Given the description of an element on the screen output the (x, y) to click on. 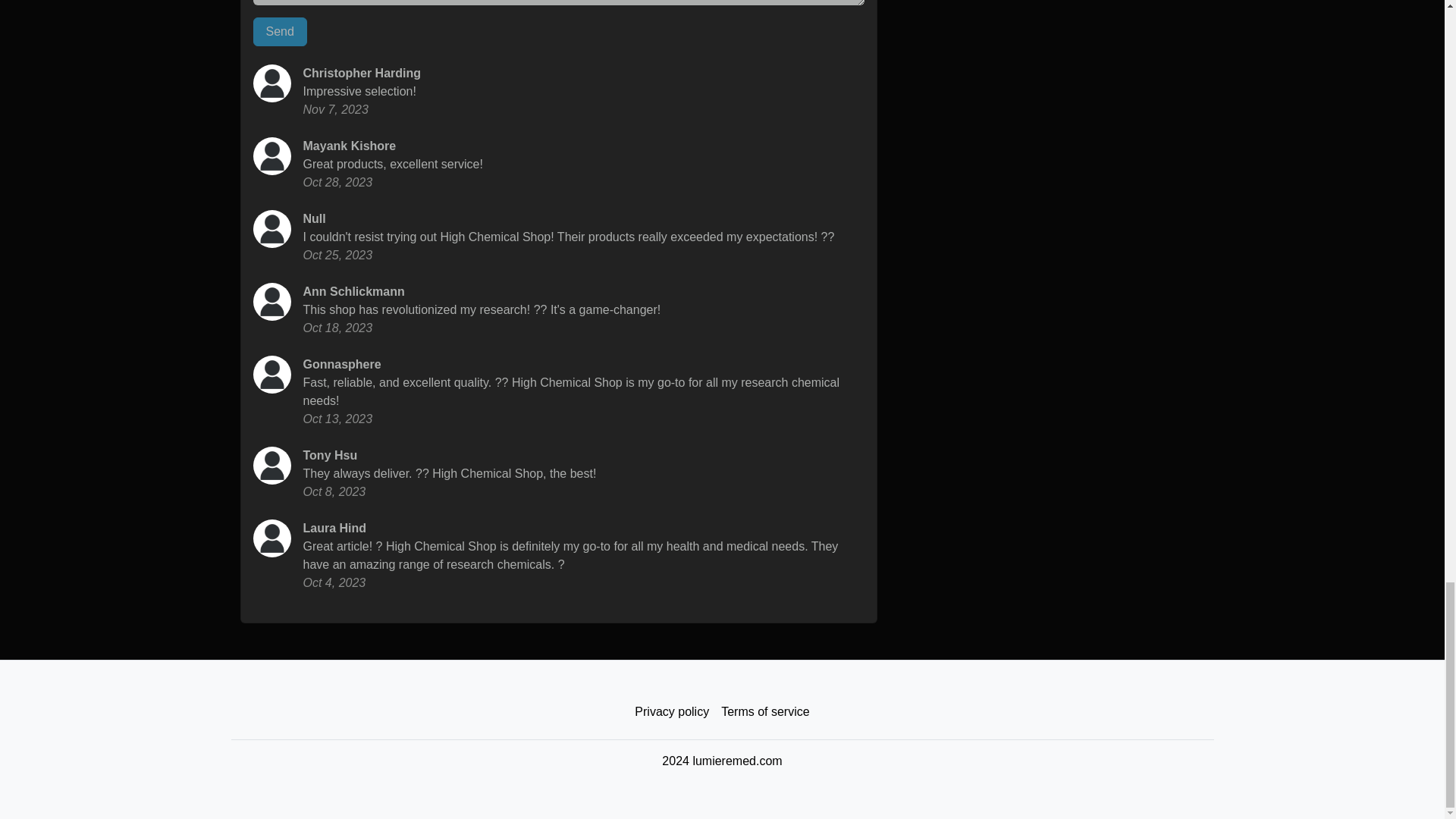
Terms of service (764, 711)
Privacy policy (671, 711)
Send (280, 31)
Send (280, 31)
